Given the description of an element on the screen output the (x, y) to click on. 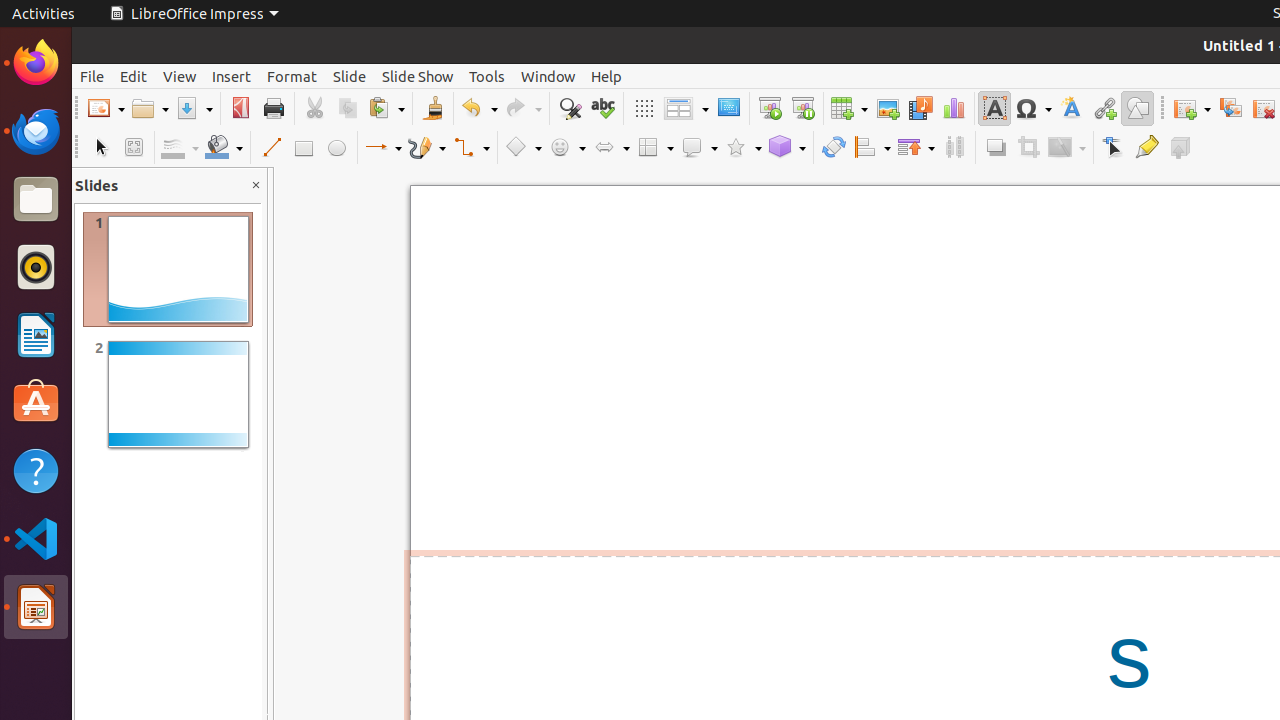
Rotate Element type: push-button (833, 147)
Fill Color Element type: push-button (224, 147)
LibreOffice Impress Element type: push-button (36, 607)
Start from Current Slide Element type: push-button (802, 108)
Delete Slide Element type: push-button (1263, 108)
